Given the description of an element on the screen output the (x, y) to click on. 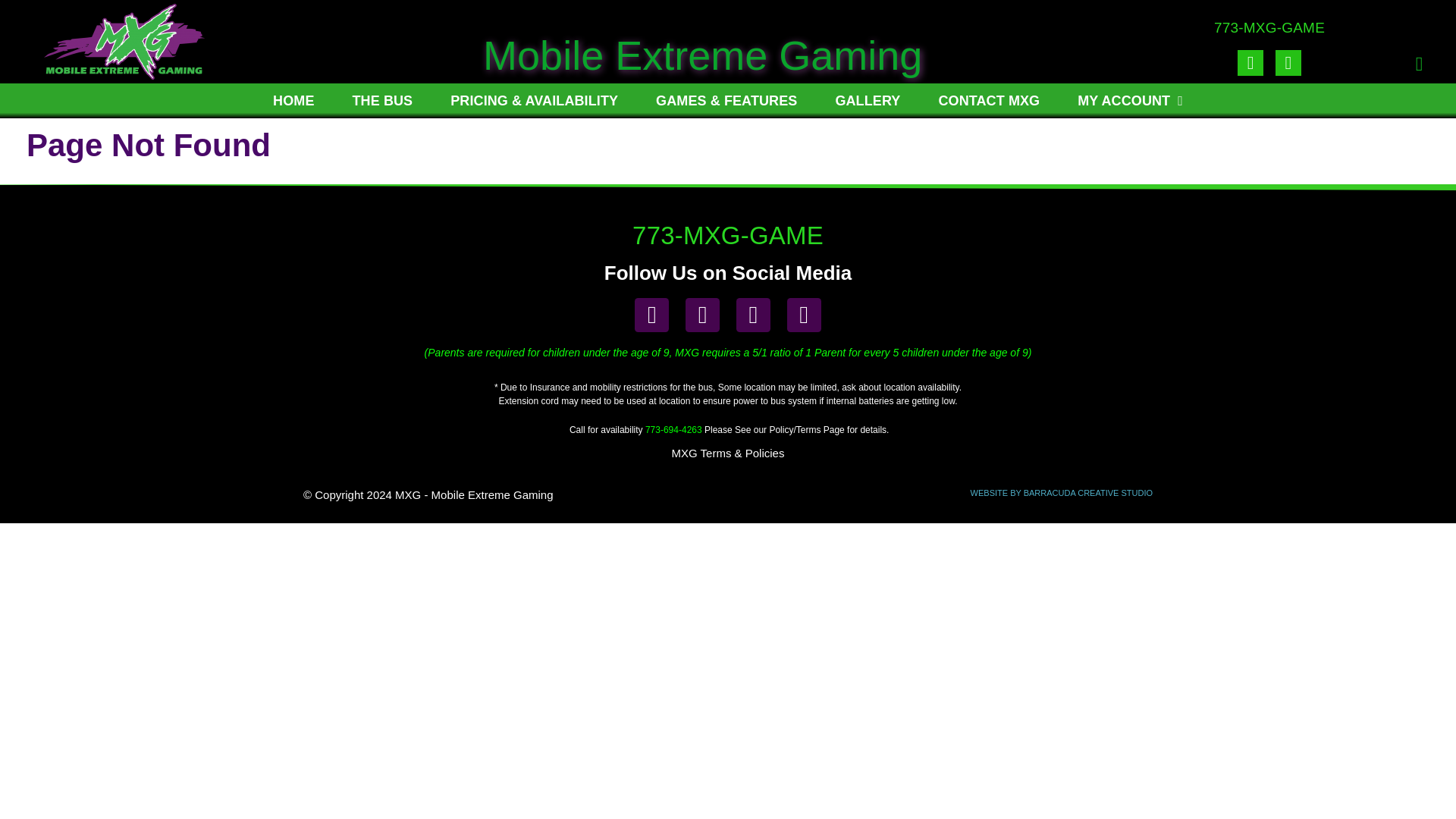
773-MXG-GAME (727, 235)
CONTACT MXG (988, 100)
773-694-4263 (673, 429)
GALLERY (867, 100)
WEBSITE BY BARRACUDA CREATIVE STUDIO (1062, 492)
773-MXG-GAME (1269, 27)
MY ACCOUNT (1130, 100)
HOME (293, 100)
THE BUS (382, 100)
Mobile Extreme Gaming Logo (124, 41)
